Given the description of an element on the screen output the (x, y) to click on. 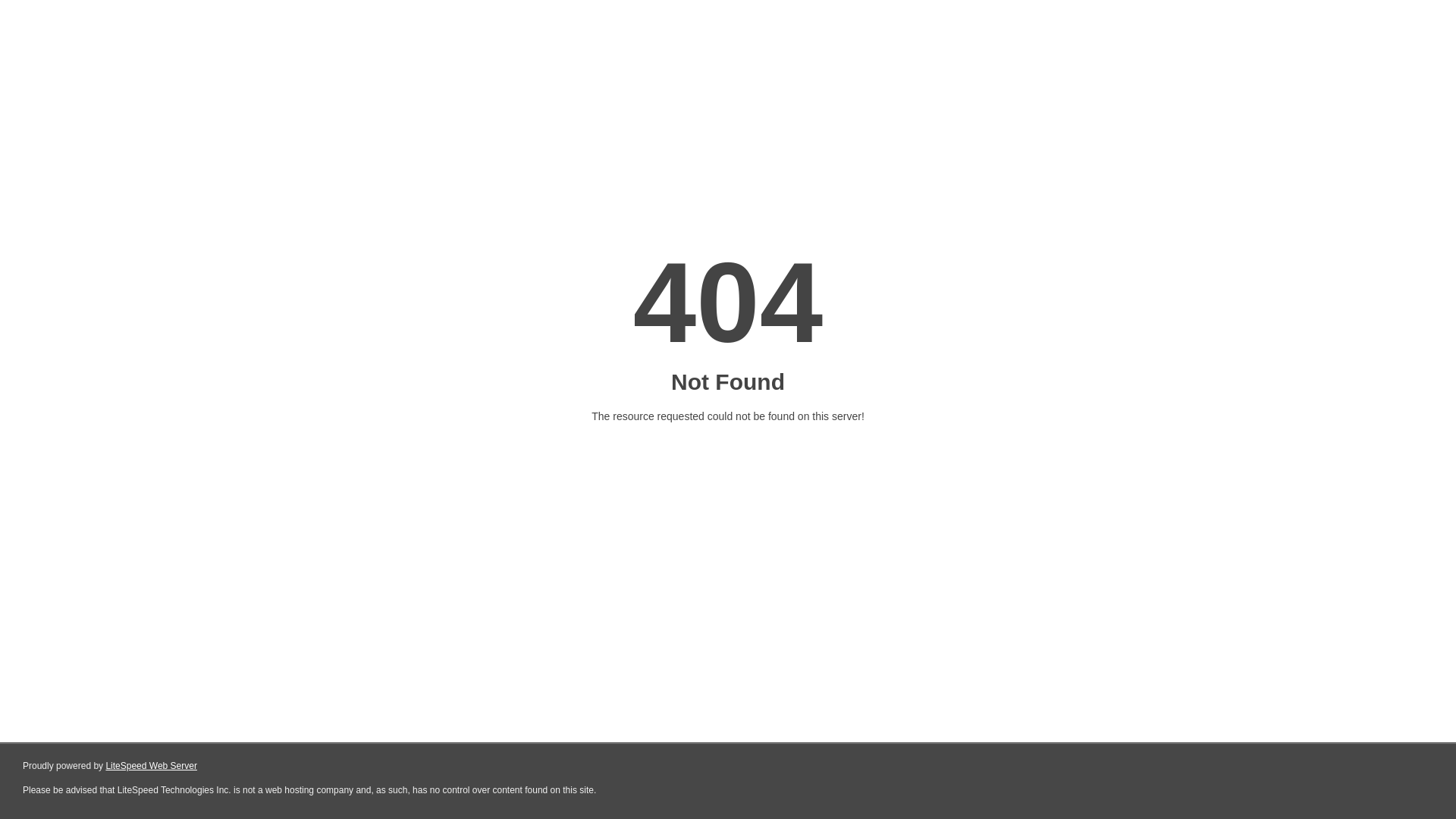
LiteSpeed Web Server Element type: text (151, 765)
